Given the description of an element on the screen output the (x, y) to click on. 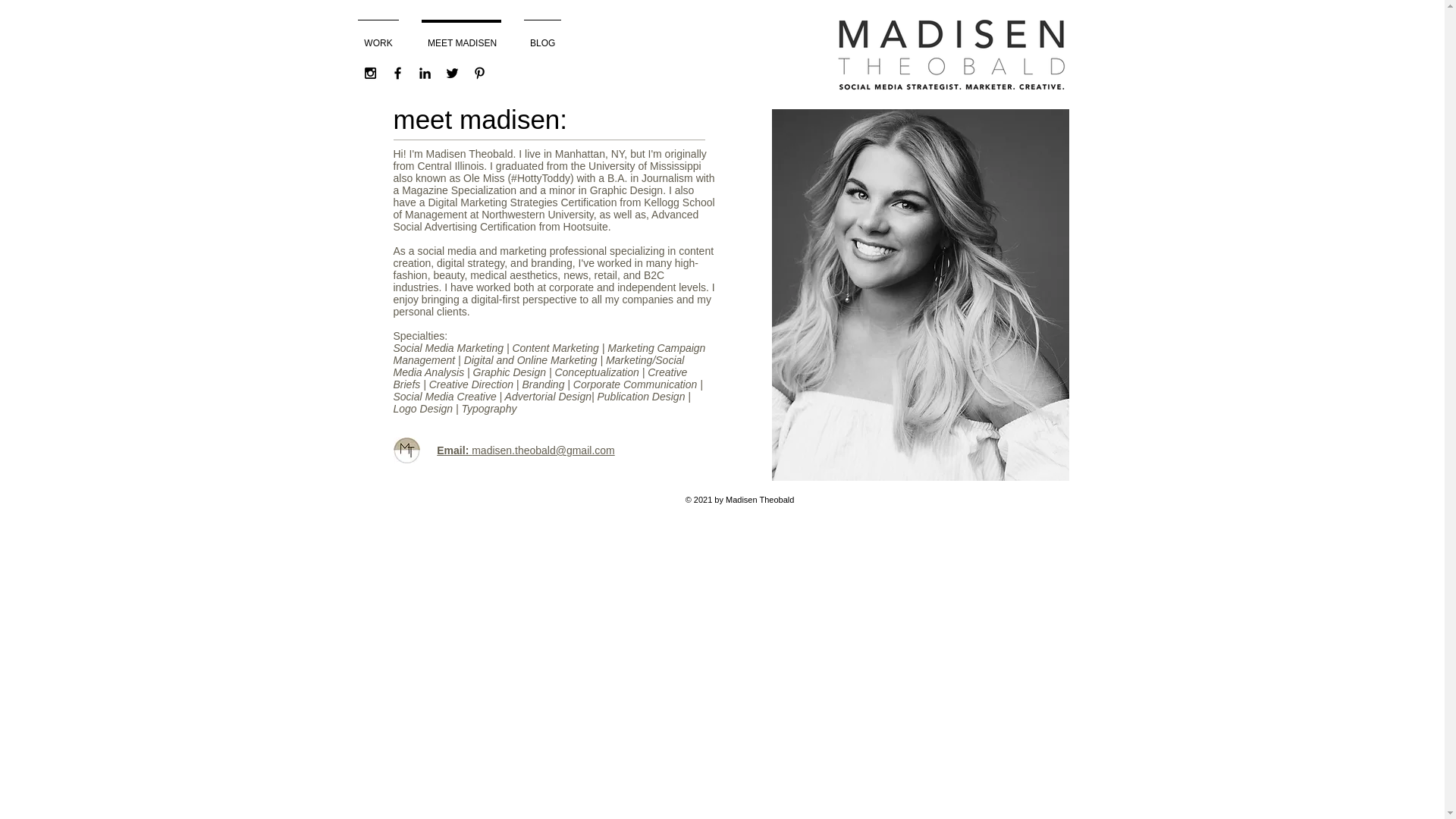
sticker2.jpg (406, 450)
MEET MADISEN (461, 36)
BLOG (542, 36)
 tag line.png (949, 54)
WORK (378, 36)
